Given the description of an element on the screen output the (x, y) to click on. 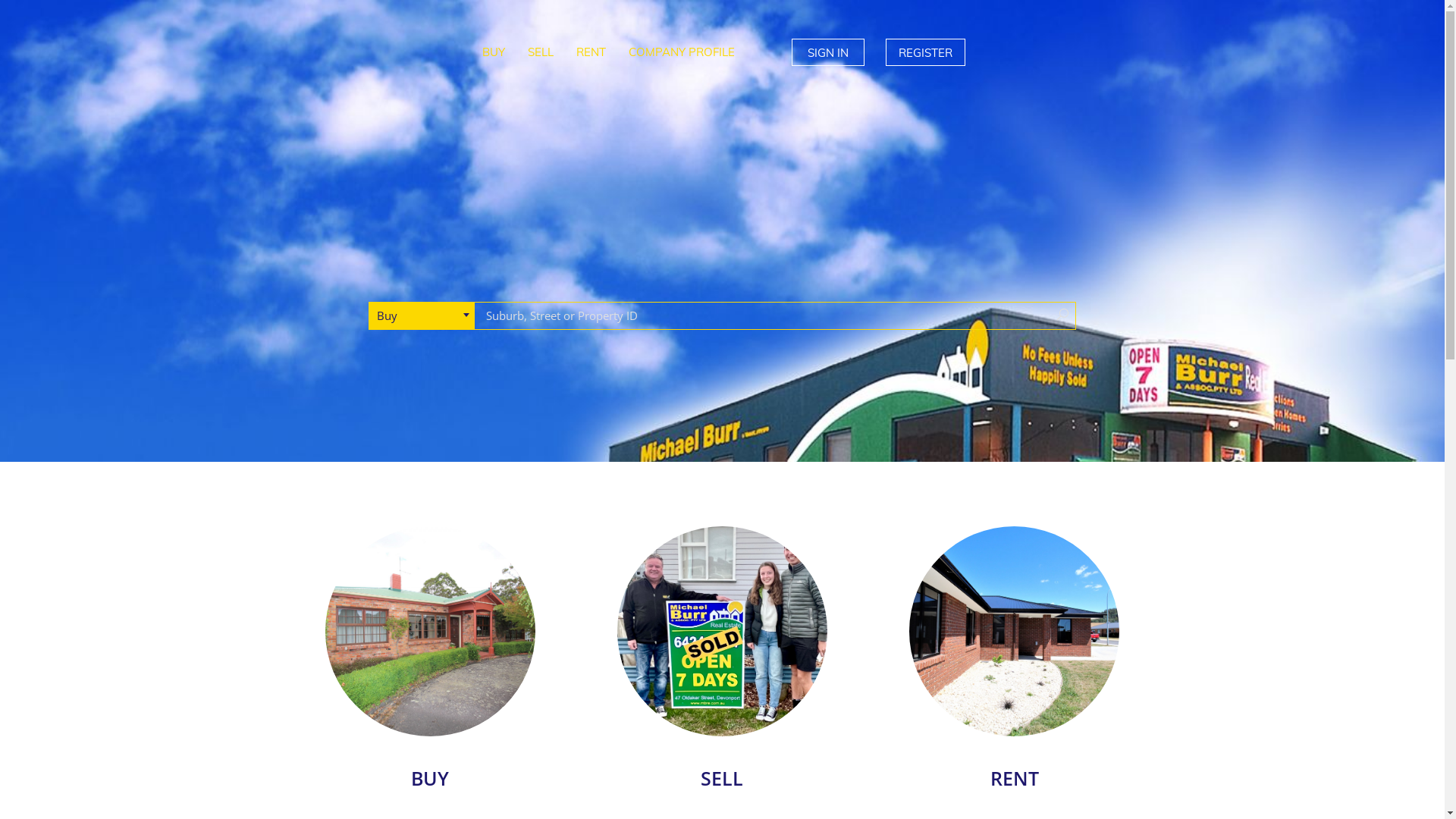
SELL Element type: text (539, 51)
RENT Element type: text (590, 51)
COMPANY PROFILE Element type: text (681, 51)
BUY Element type: text (429, 779)
Sell Element type: hover (722, 631)
RENT Element type: hover (1014, 631)
BUY Element type: text (492, 51)
RENT Element type: text (1014, 779)
SELL Element type: text (722, 779)
BUY Element type: hover (430, 631)
SIGN IN Element type: text (827, 51)
REGISTER Element type: text (925, 51)
